Given the description of an element on the screen output the (x, y) to click on. 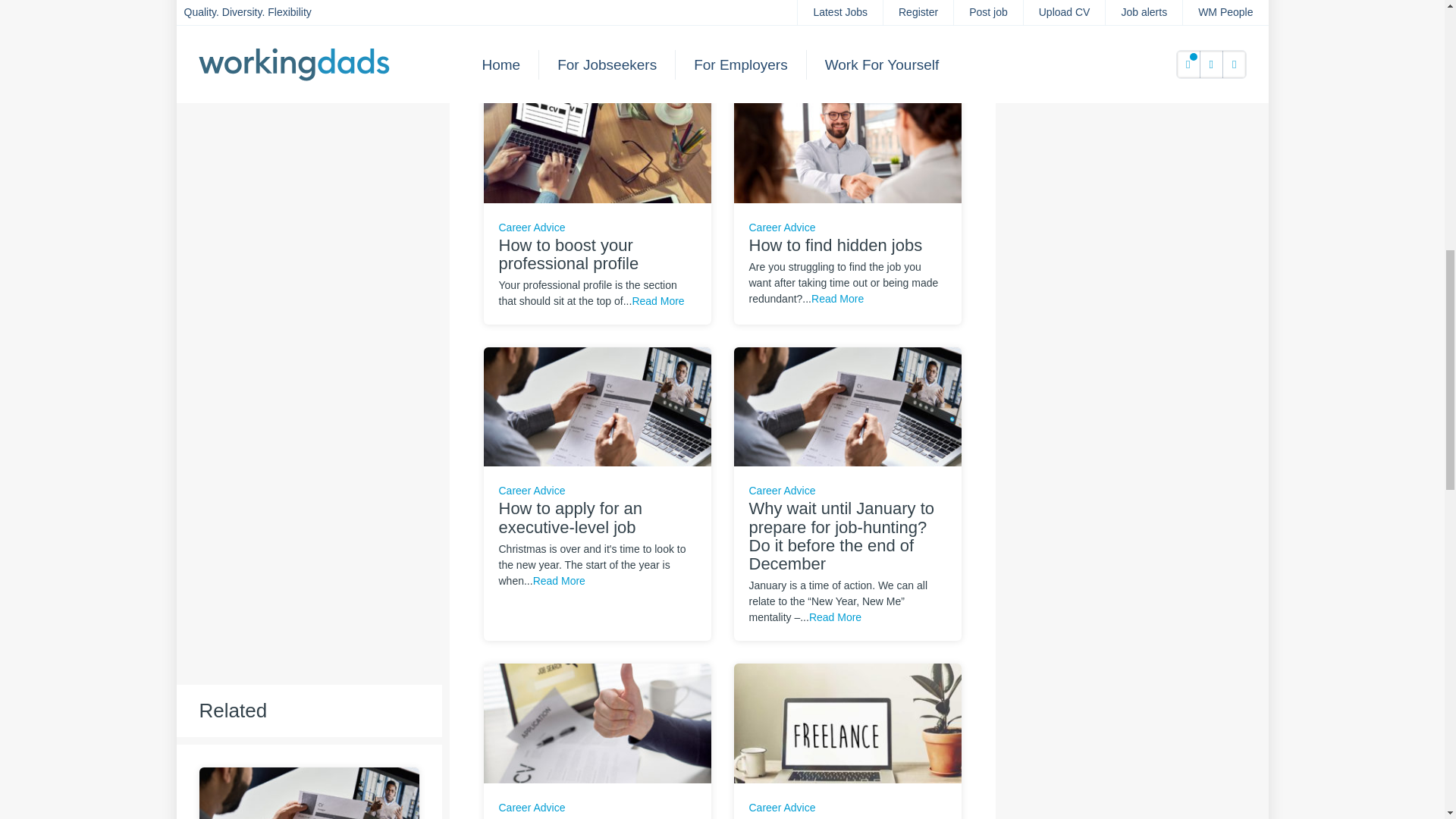
How to boost your professional profile (597, 141)
Writing a CV as a freelancer (846, 721)
Read More (553, 37)
How to apply for an executive-level job (597, 405)
How to find hidden jobs (846, 141)
Getting a job in 2022: some expert tips and tricks (597, 721)
